Given the description of an element on the screen output the (x, y) to click on. 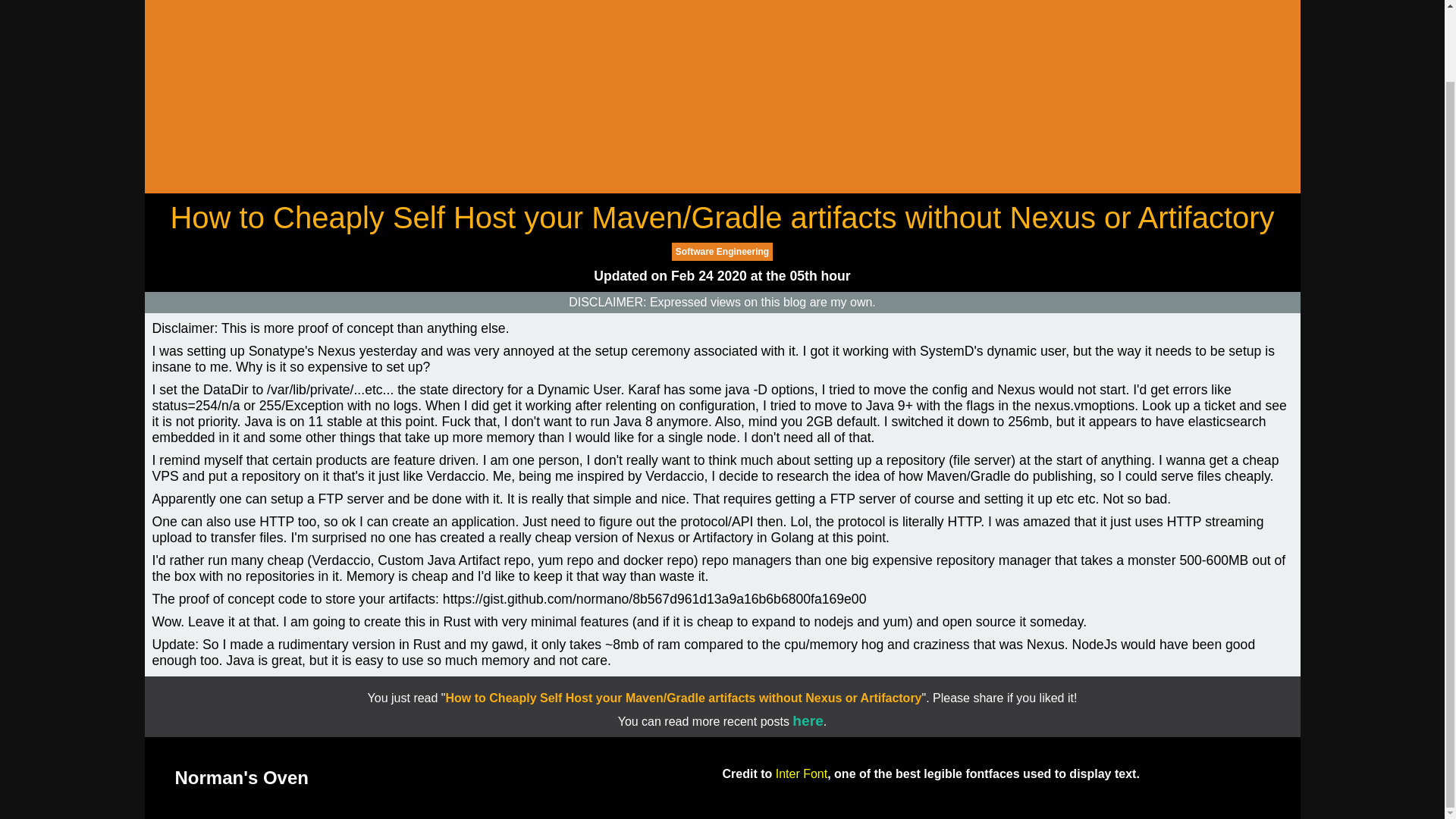
here (808, 720)
Software Engineering (722, 251)
Inter Font (801, 774)
